Given the description of an element on the screen output the (x, y) to click on. 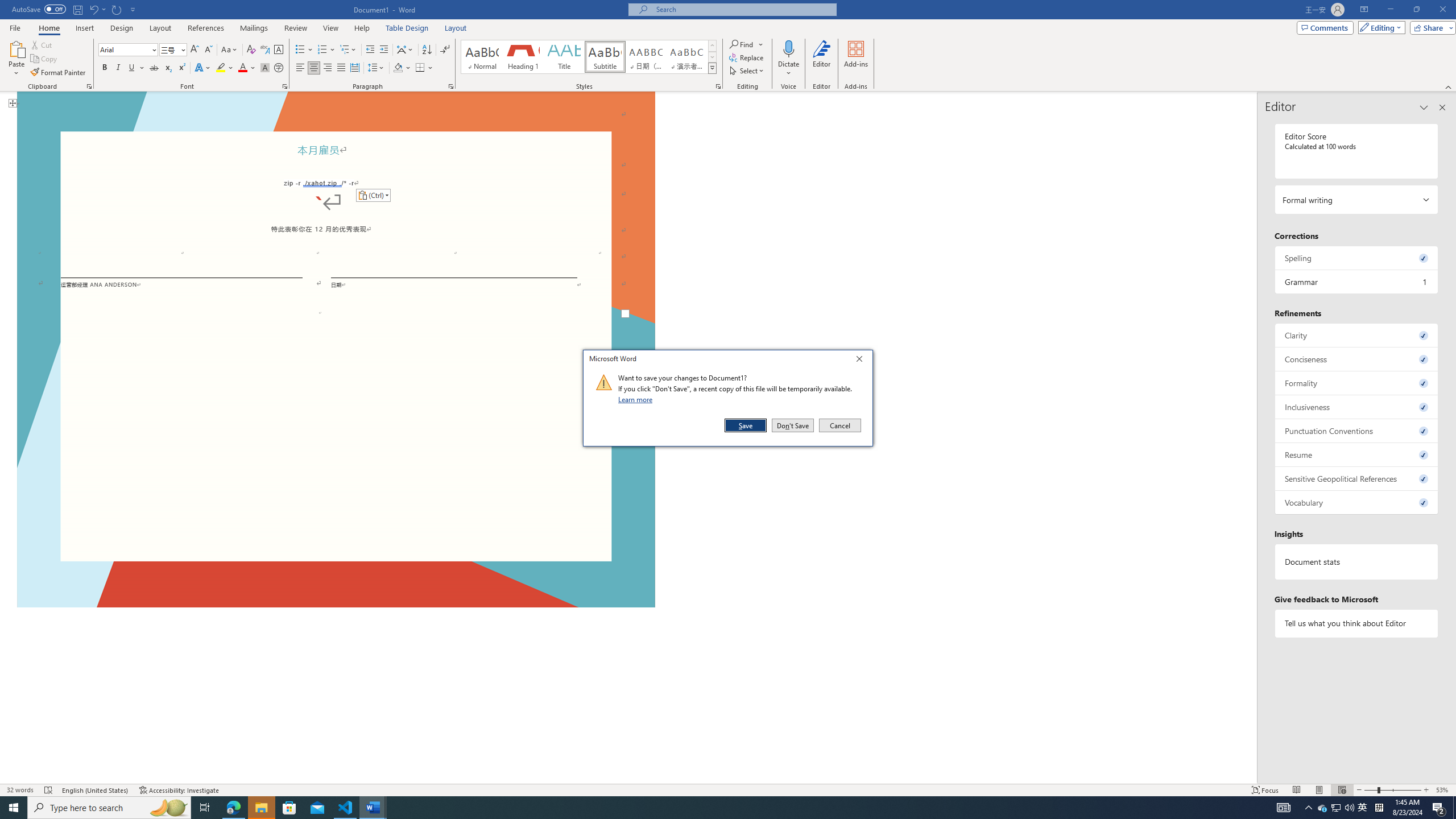
Learn more (636, 399)
Undo Paste (96, 9)
Tell us what you think about Editor (1356, 623)
Undo Paste (92, 9)
